Given the description of an element on the screen output the (x, y) to click on. 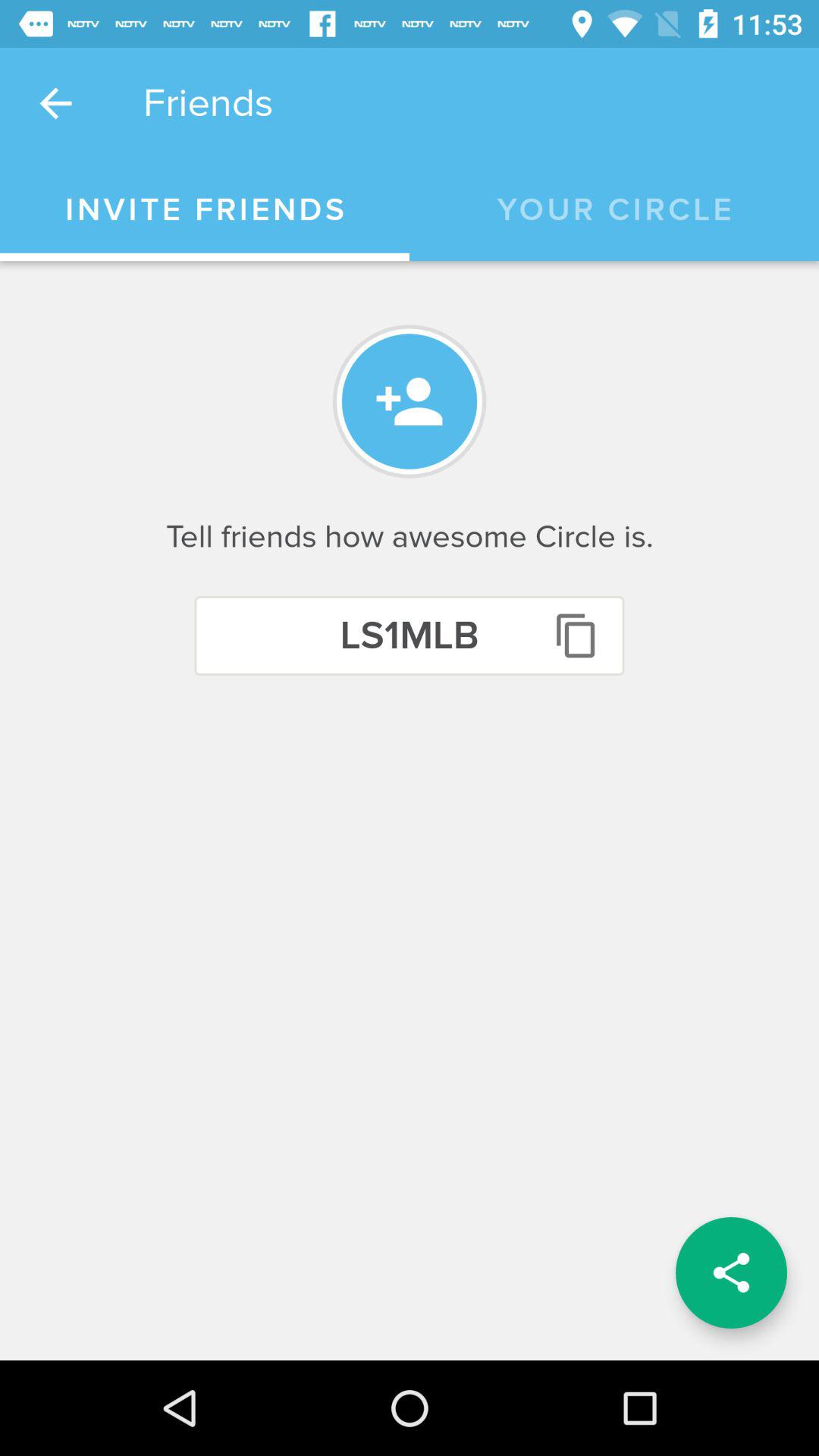
launch item to the left of friends item (55, 103)
